Given the description of an element on the screen output the (x, y) to click on. 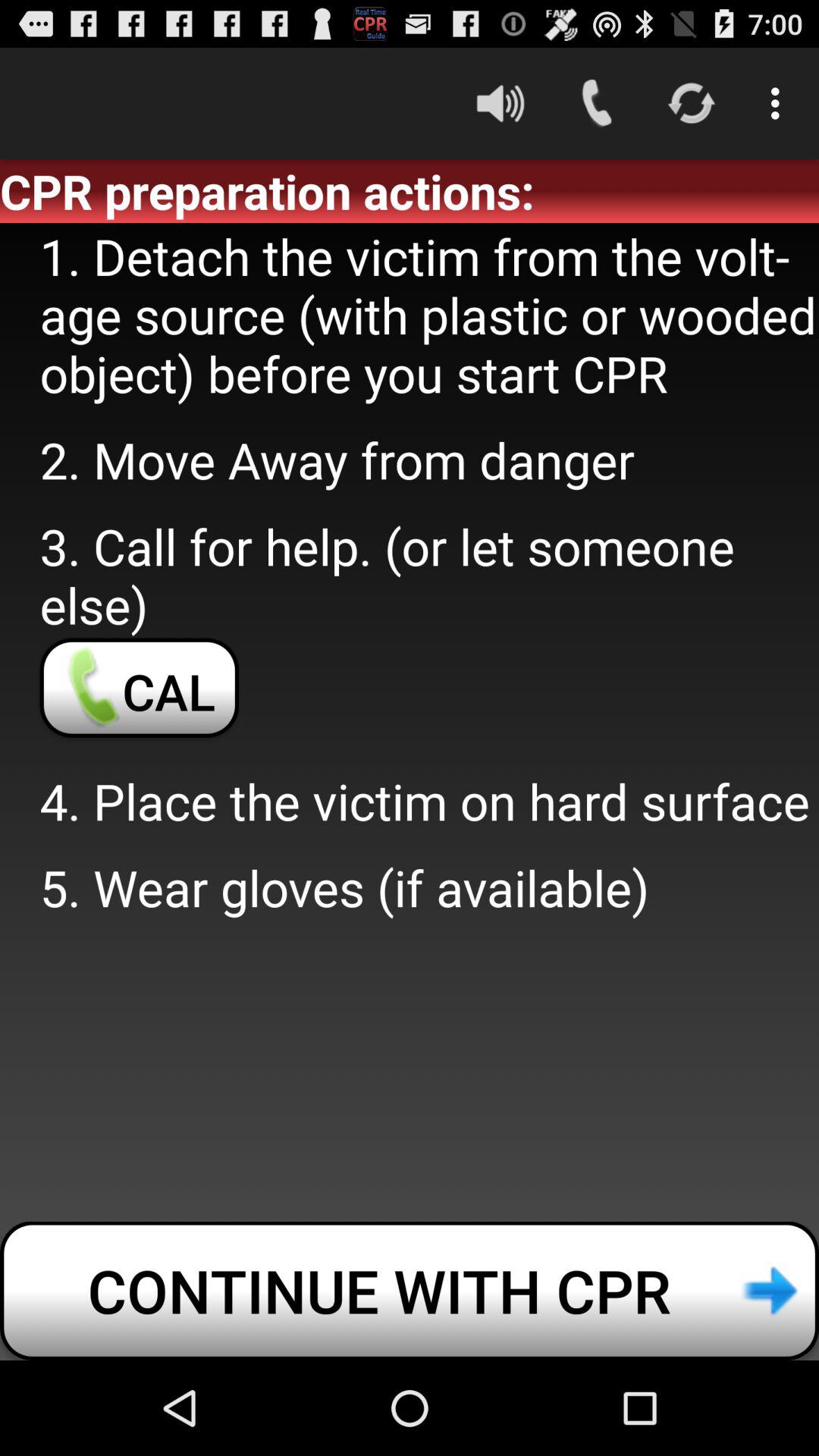
turn off the item above the cpr preparation actions: icon (500, 103)
